Given the description of an element on the screen output the (x, y) to click on. 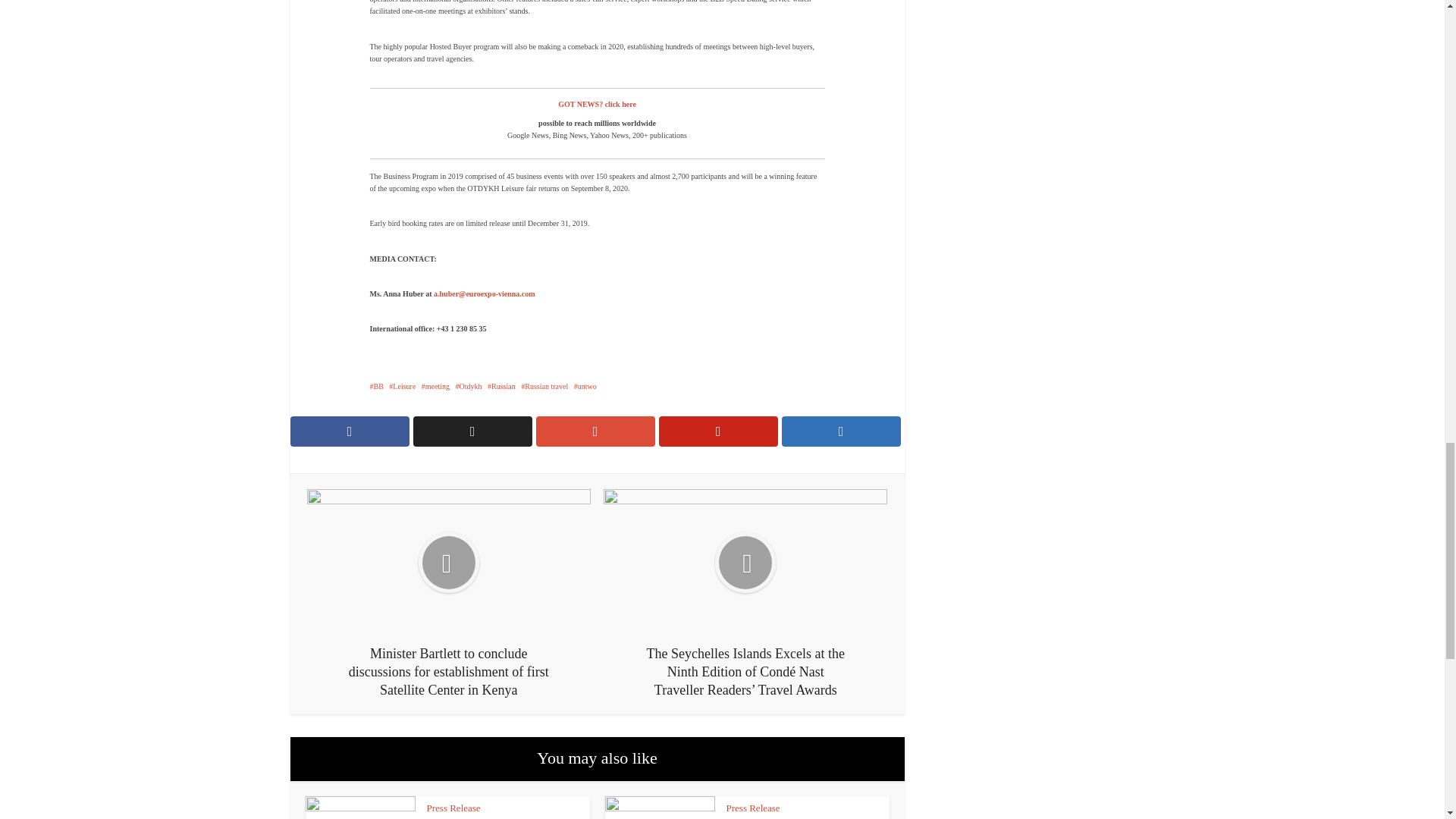
BB (376, 386)
Russian (501, 386)
meeting (435, 386)
Otdykh (468, 386)
GOT NEWS? click here (596, 103)
Russian travel (544, 386)
untwo (584, 386)
Leisure (401, 386)
